Given the description of an element on the screen output the (x, y) to click on. 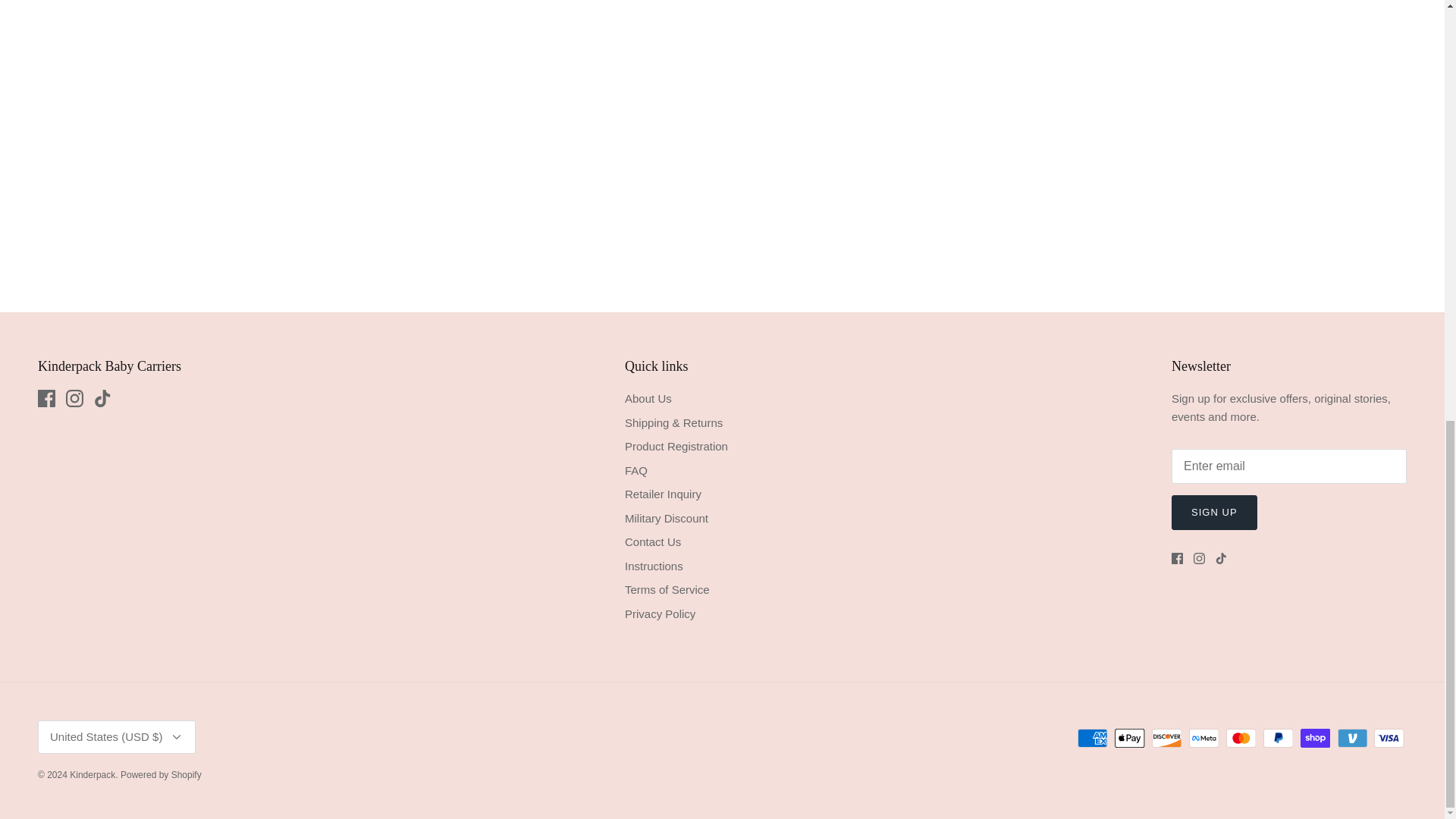
Mastercard (1240, 737)
PayPal (1277, 737)
Facebook (1177, 558)
American Express (1092, 737)
Down (176, 736)
Instagram (1199, 558)
Facebook (46, 398)
Apple Pay (1129, 737)
Instagram (73, 398)
Venmo (1352, 737)
